Given the description of an element on the screen output the (x, y) to click on. 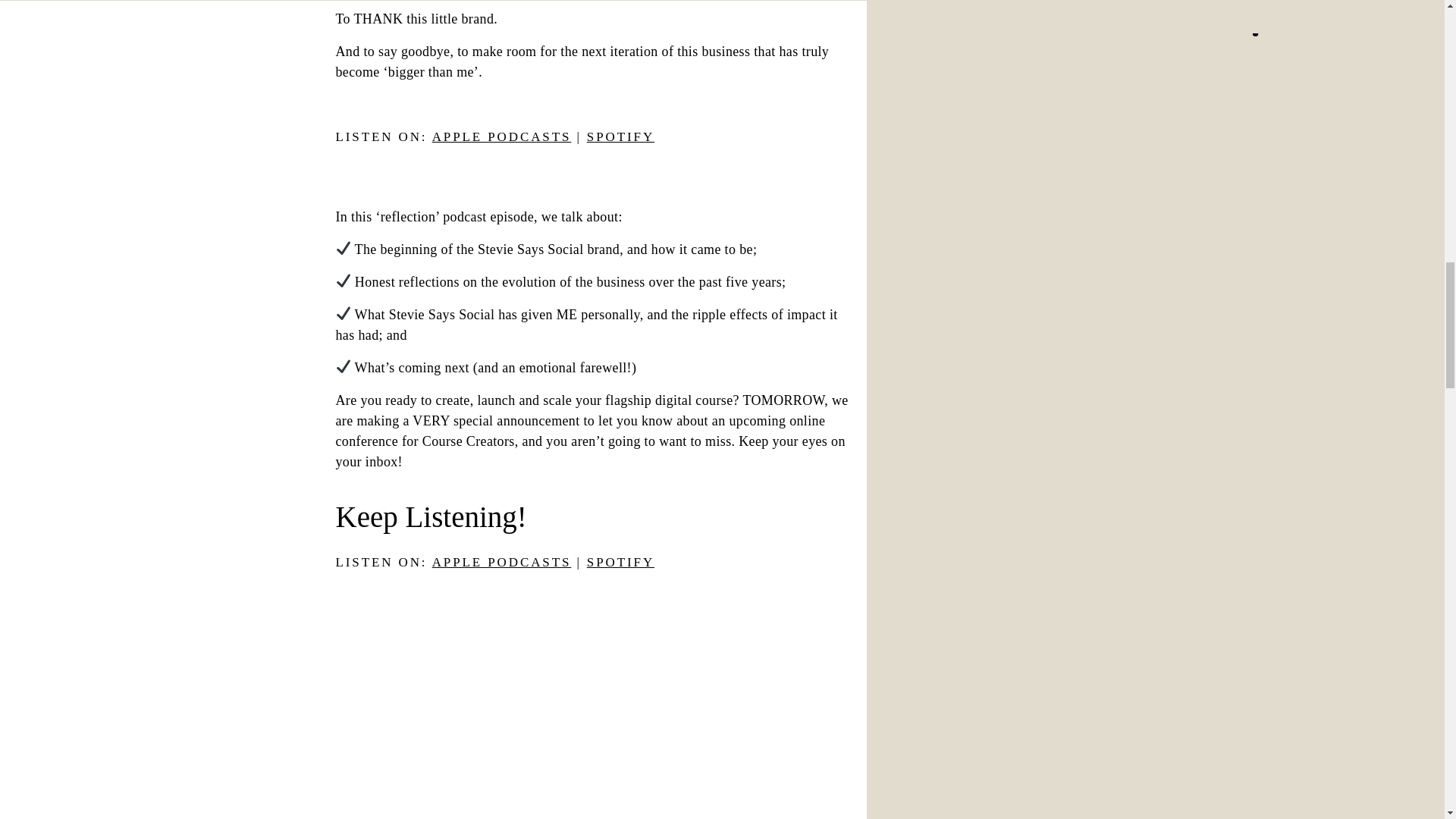
SPOTIFY (619, 136)
APPLE PODCASTS (502, 562)
SPOTIFY (619, 562)
APPLE PODCASTS (502, 136)
